Given the description of an element on the screen output the (x, y) to click on. 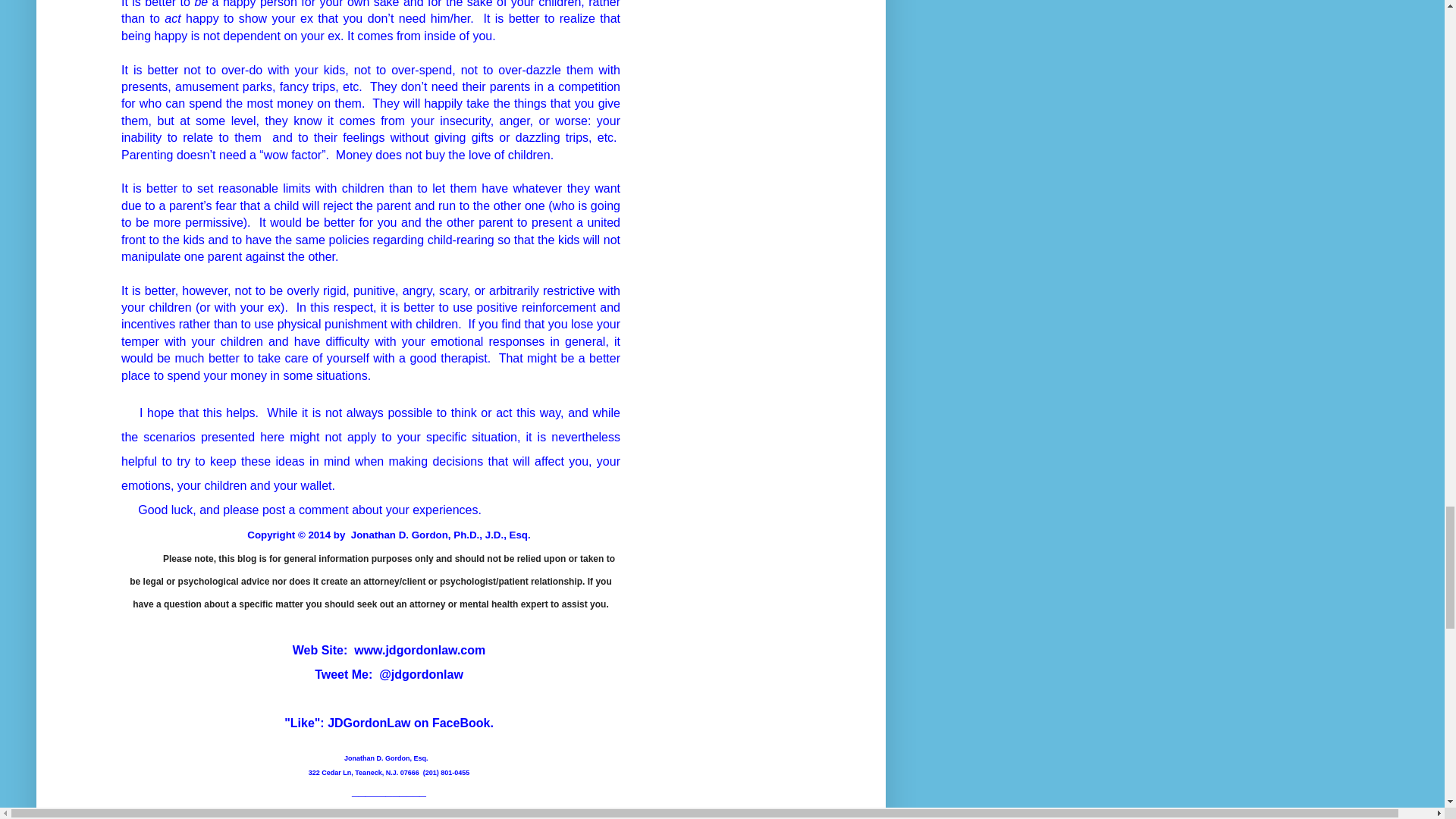
www.jdgordonlaw.com (418, 649)
